Given the description of an element on the screen output the (x, y) to click on. 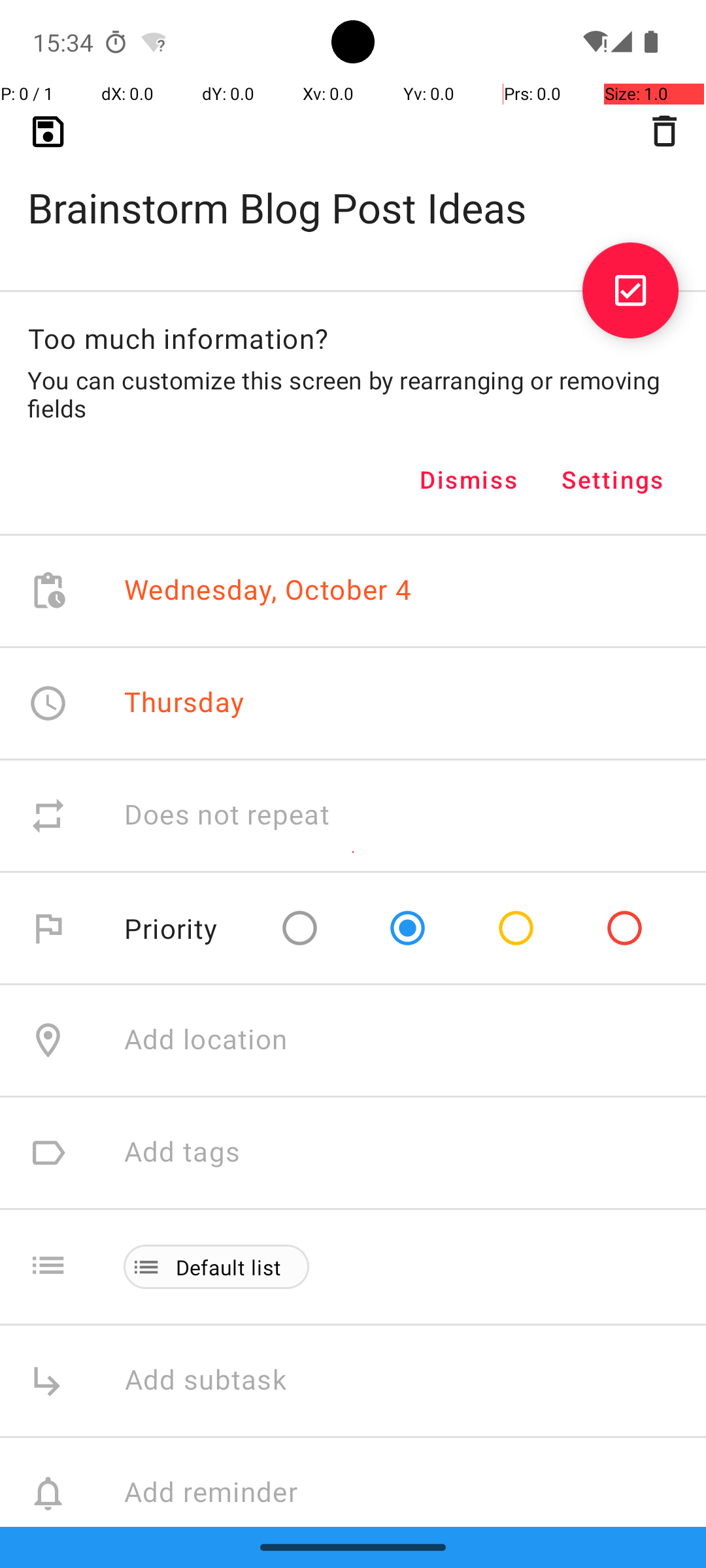
Wednesday, October 4 Element type: android.widget.TextView (267, 590)
